Given the description of an element on the screen output the (x, y) to click on. 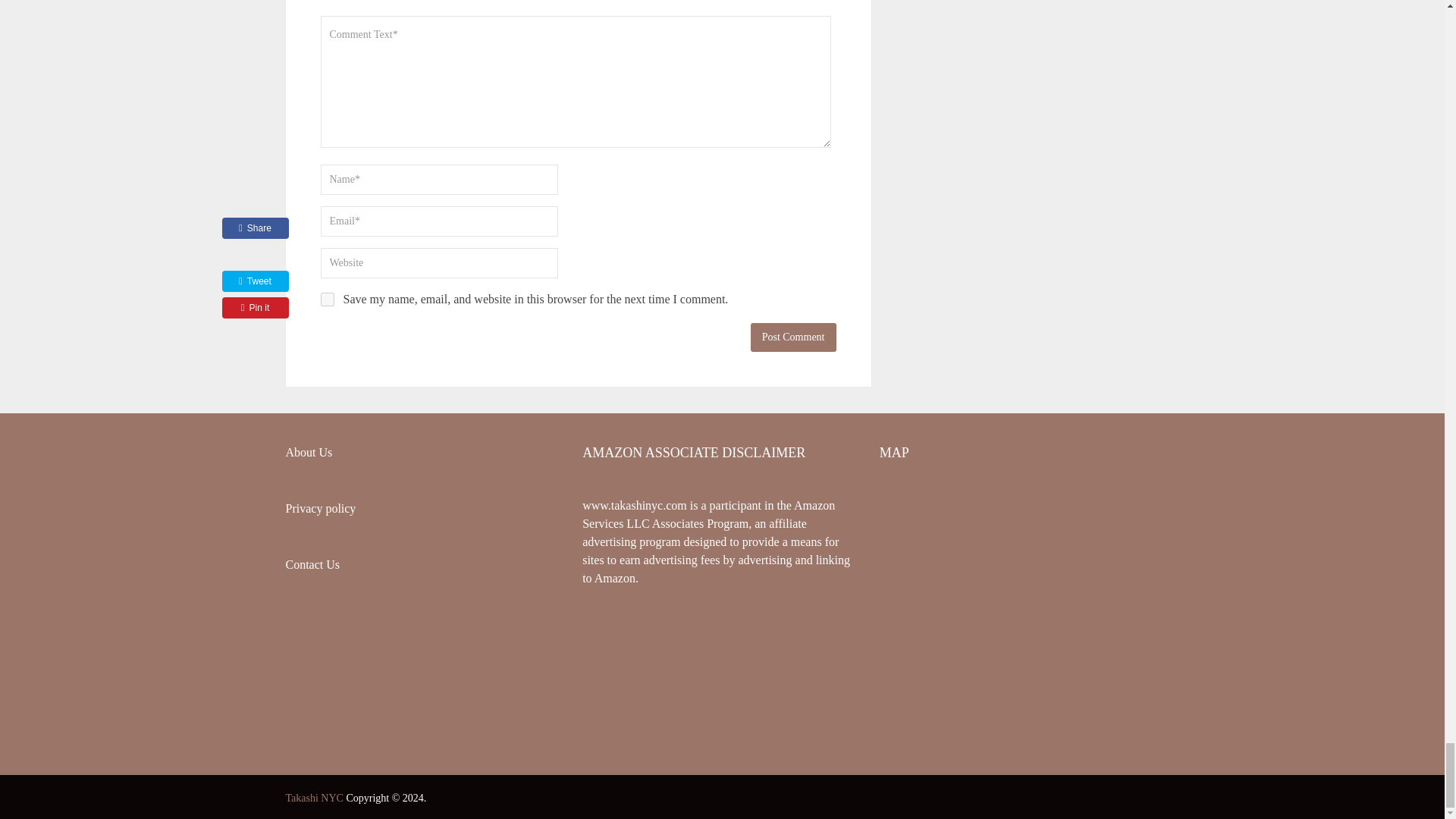
yes (326, 299)
Post Comment (793, 337)
